Given the description of an element on the screen output the (x, y) to click on. 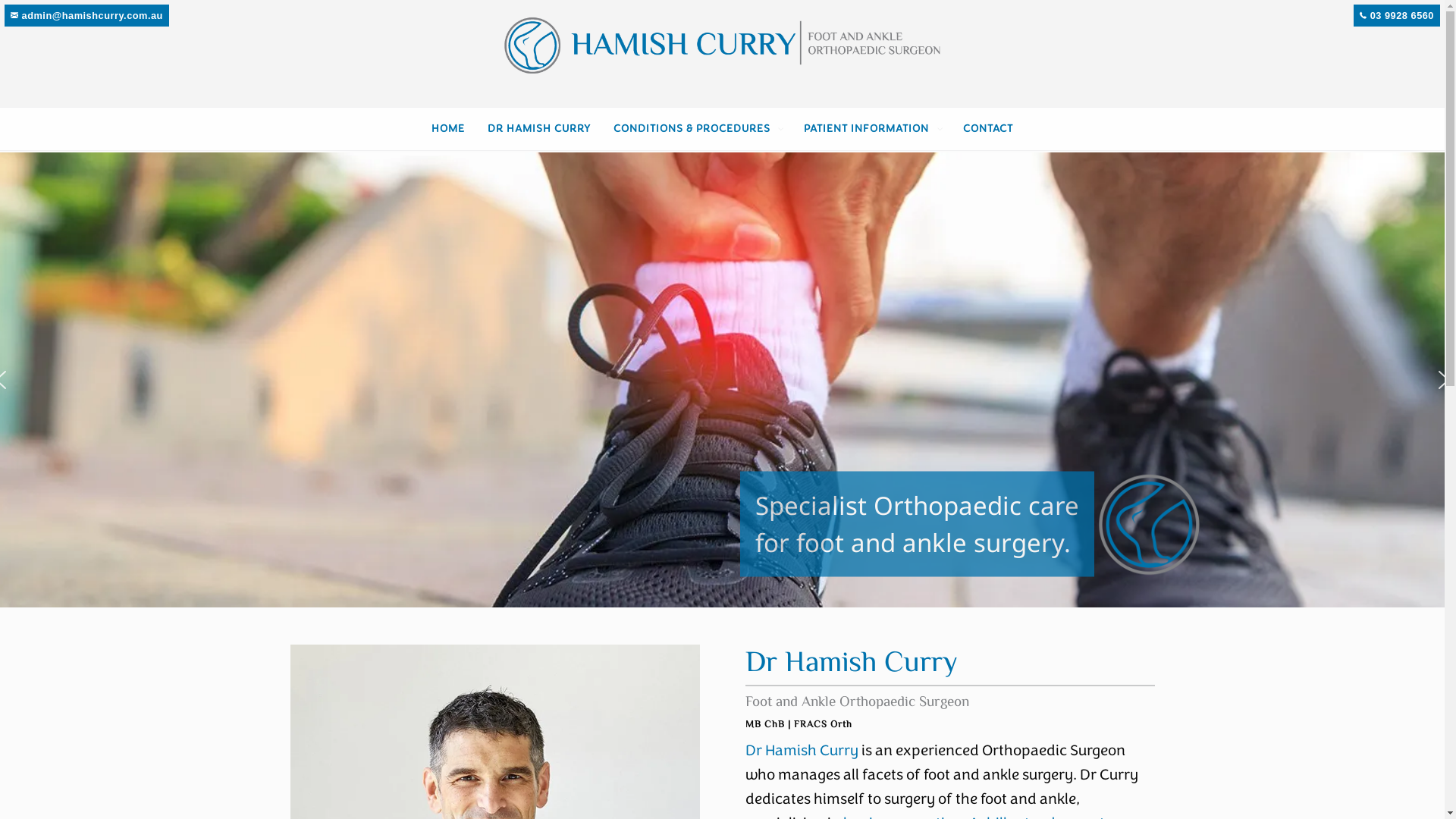
CONDITIONS & PROCEDURES Element type: text (697, 128)
admin@hamishcurry.com.au Element type: text (86, 15)
CONTACT Element type: text (987, 128)
PATIENT INFORMATION Element type: text (871, 128)
DR HAMISH CURRY Element type: text (539, 128)
03 9928 6560 Element type: text (1396, 15)
HOME Element type: text (448, 128)
Dr Hamish Curry Element type: text (800, 750)
